Given the description of an element on the screen output the (x, y) to click on. 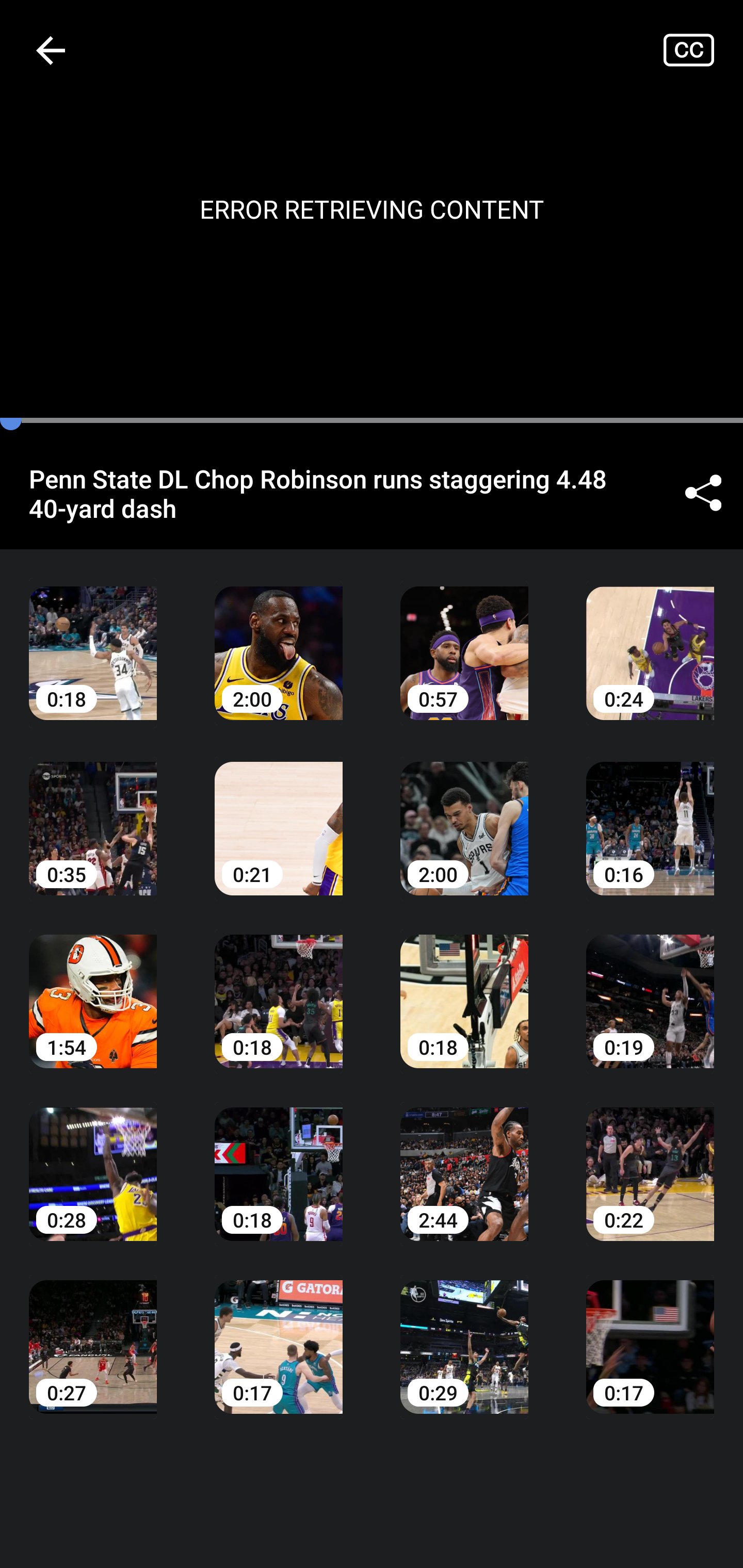
Navigate up (50, 50)
Closed captions  (703, 49)
Share © (703, 493)
0:18 (92, 637)
2:00 (278, 637)
0:57 (464, 637)
0:24 (650, 637)
0:35 (92, 813)
0:21 (278, 813)
2:00 (464, 813)
0:16 (650, 813)
1:54 (92, 987)
0:18 (278, 987)
0:18 (464, 987)
0:19 (650, 987)
0:28 (92, 1160)
0:18 (278, 1160)
2:44 (464, 1160)
0:22 (650, 1160)
0:27 (92, 1332)
0:17 (278, 1332)
0:29 (464, 1332)
0:17 (650, 1332)
